Given the description of an element on the screen output the (x, y) to click on. 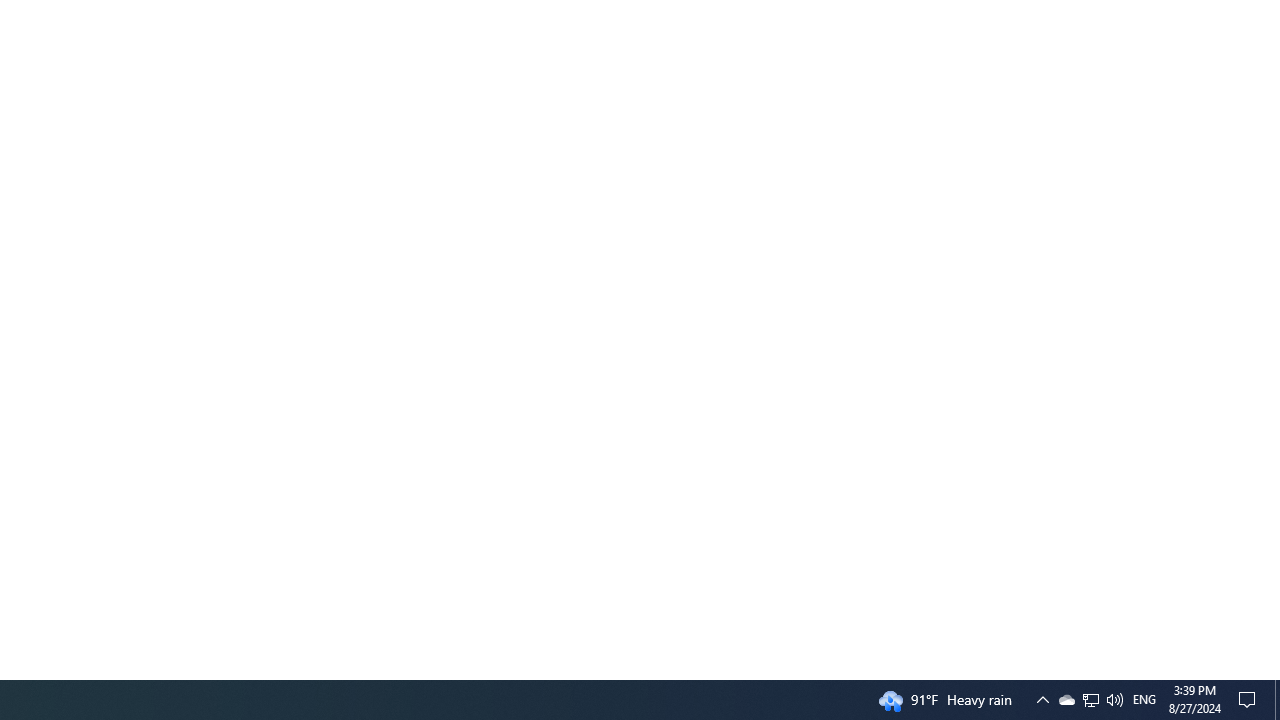
Tray Input Indicator - English (United States) (1144, 699)
Action Center, No new notifications (1250, 699)
